Given the description of an element on the screen output the (x, y) to click on. 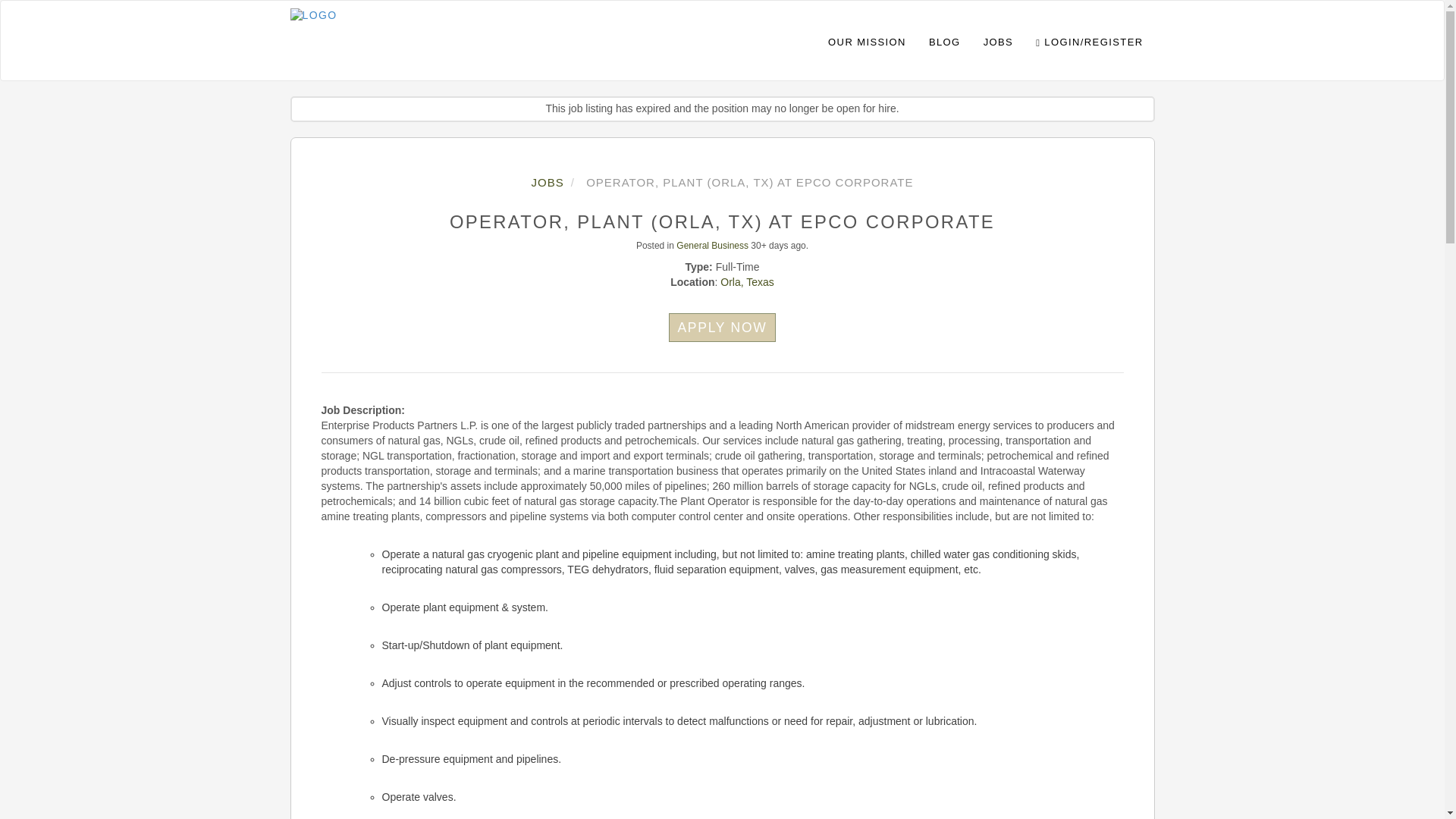
General Business (712, 245)
Orla, Texas (747, 282)
GO TO HOMEPAGE (312, 11)
OUR MISSION (866, 40)
JOBS (547, 182)
APPLY NOW (721, 327)
